Given the description of an element on the screen output the (x, y) to click on. 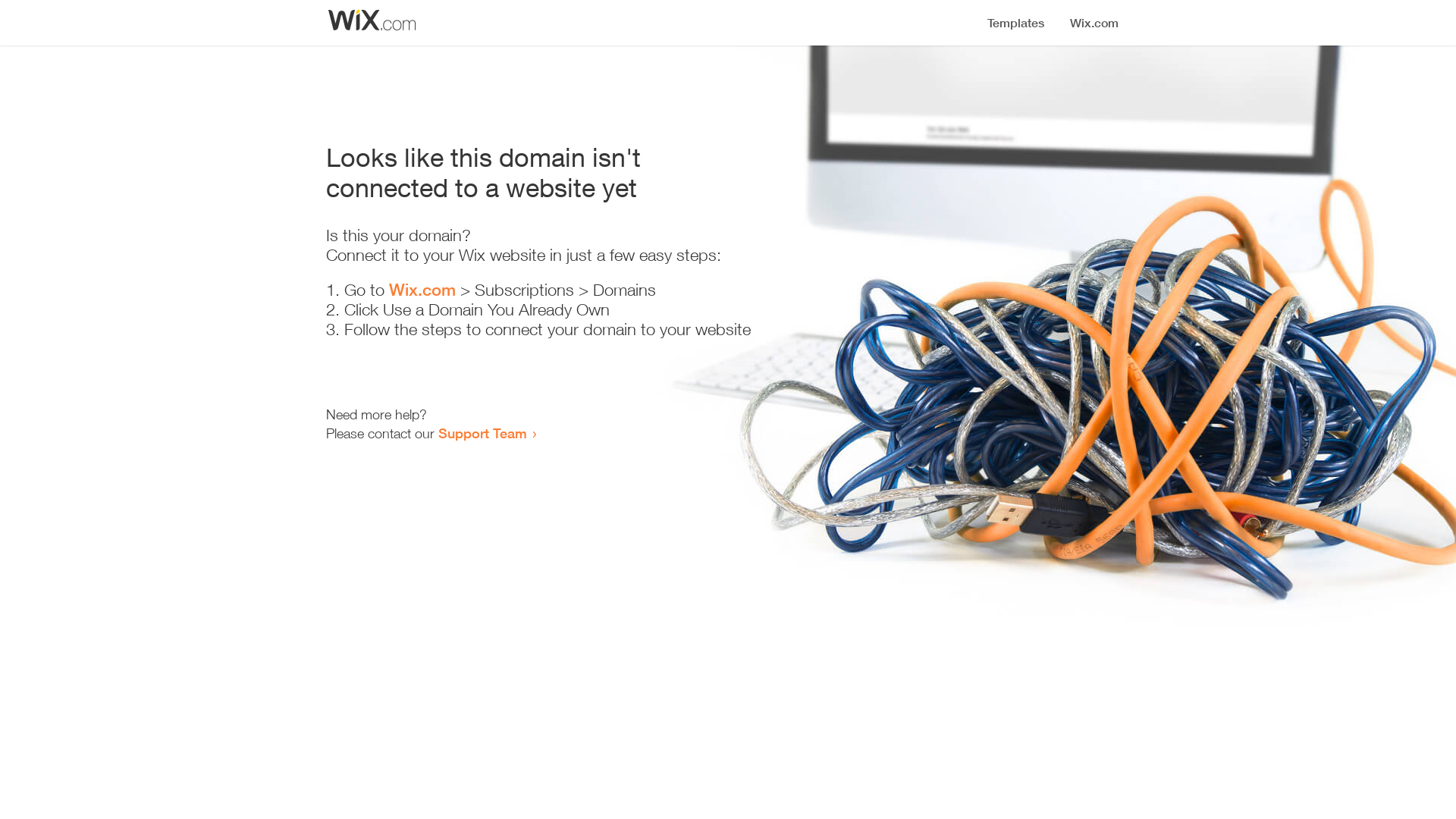
Support Team Element type: text (482, 432)
Wix.com Element type: text (422, 289)
